Given the description of an element on the screen output the (x, y) to click on. 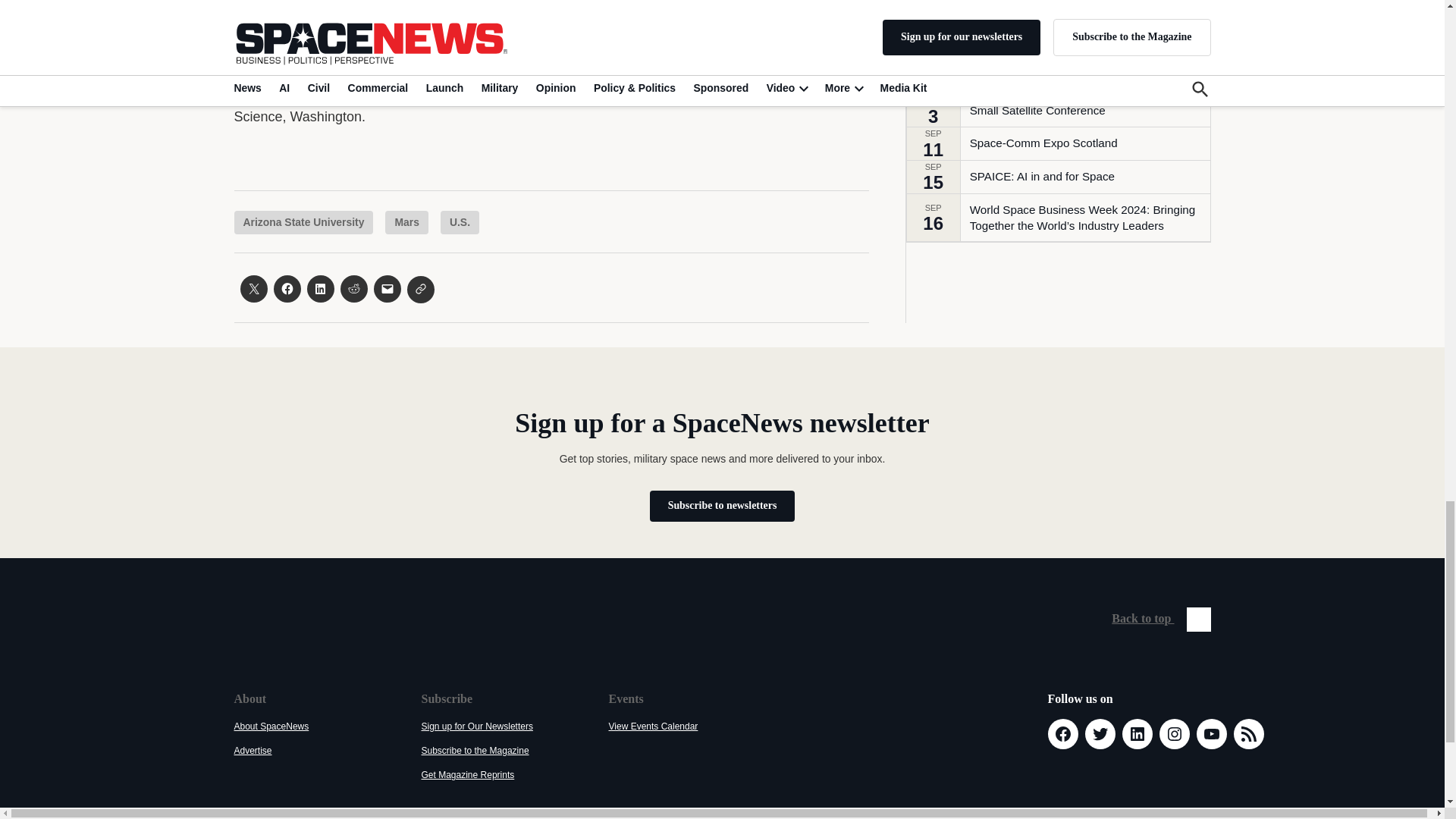
Click to share on Reddit (352, 288)
Click to share on Clipboard (419, 289)
Click to share on X (253, 288)
Click to share on Facebook (286, 288)
Click to email a link to a friend (386, 288)
Click to share on LinkedIn (319, 288)
